Given the description of an element on the screen output the (x, y) to click on. 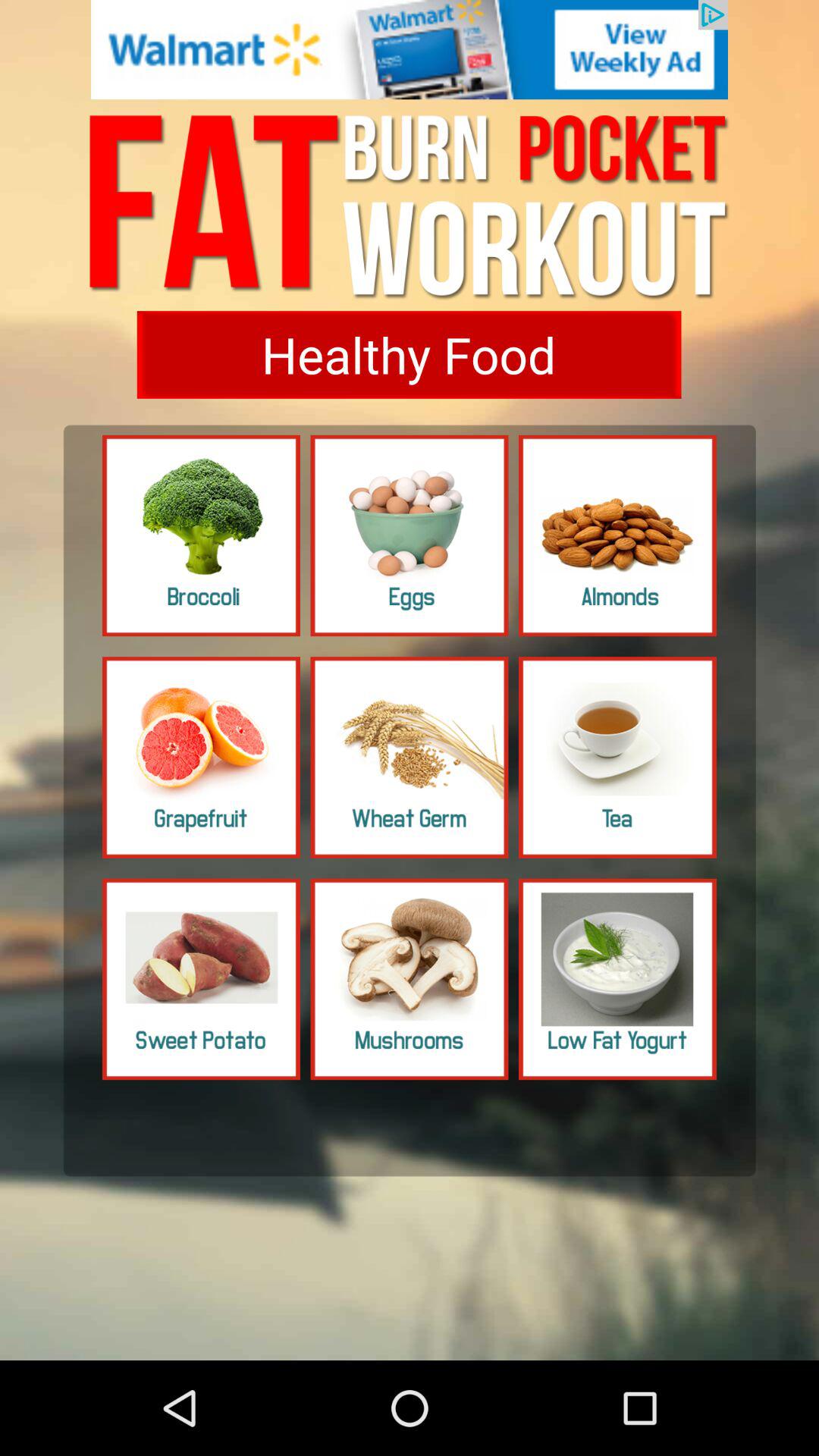
click to the food (617, 757)
